Given the description of an element on the screen output the (x, y) to click on. 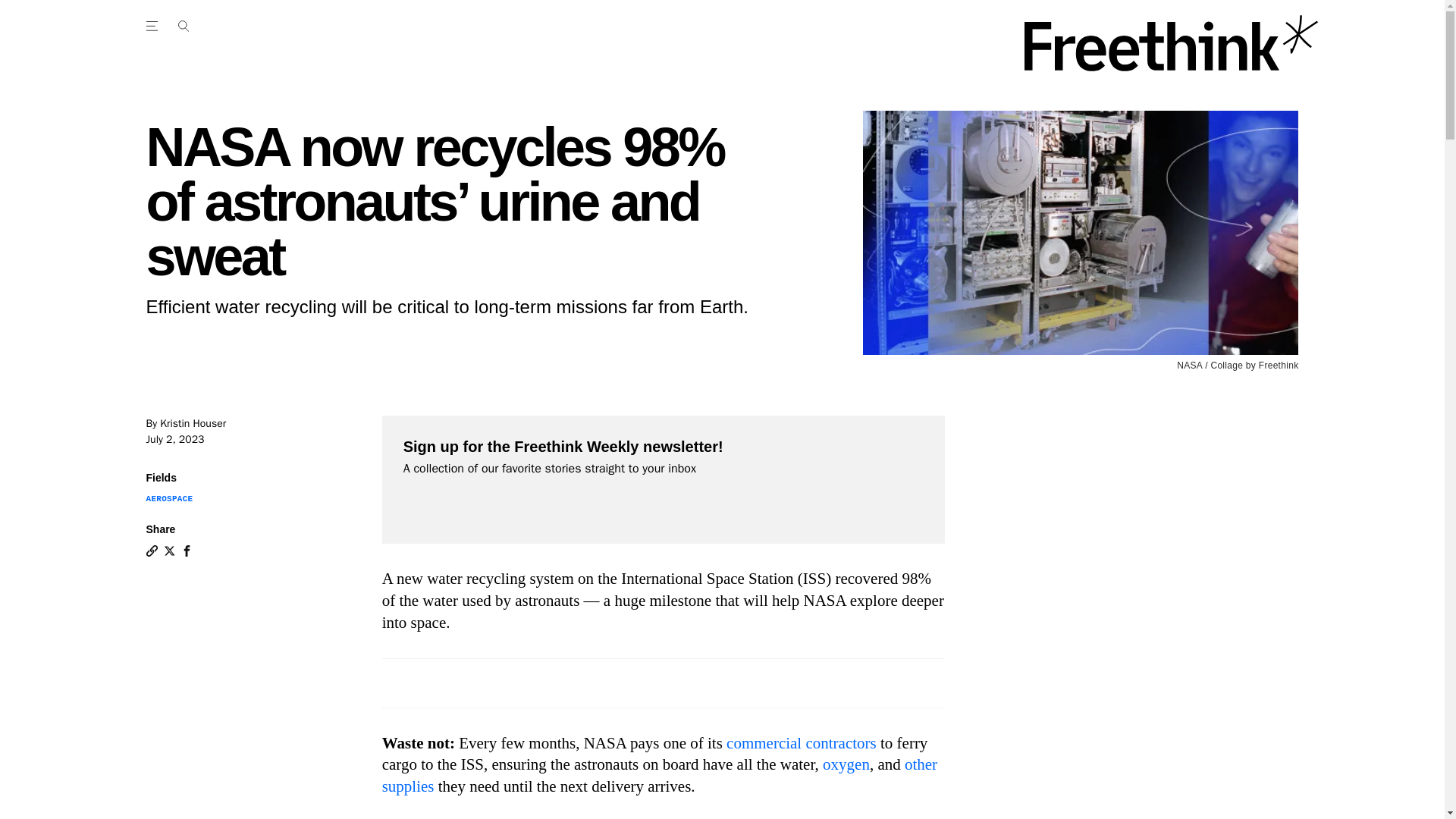
AEROSPACE (168, 498)
Open the Main Navigation Menu (182, 26)
Open the Main Navigation Menu (153, 26)
commercial contractors (801, 742)
Kristin Houser (192, 422)
other supplies (659, 775)
oxygen (845, 764)
